Given the description of an element on the screen output the (x, y) to click on. 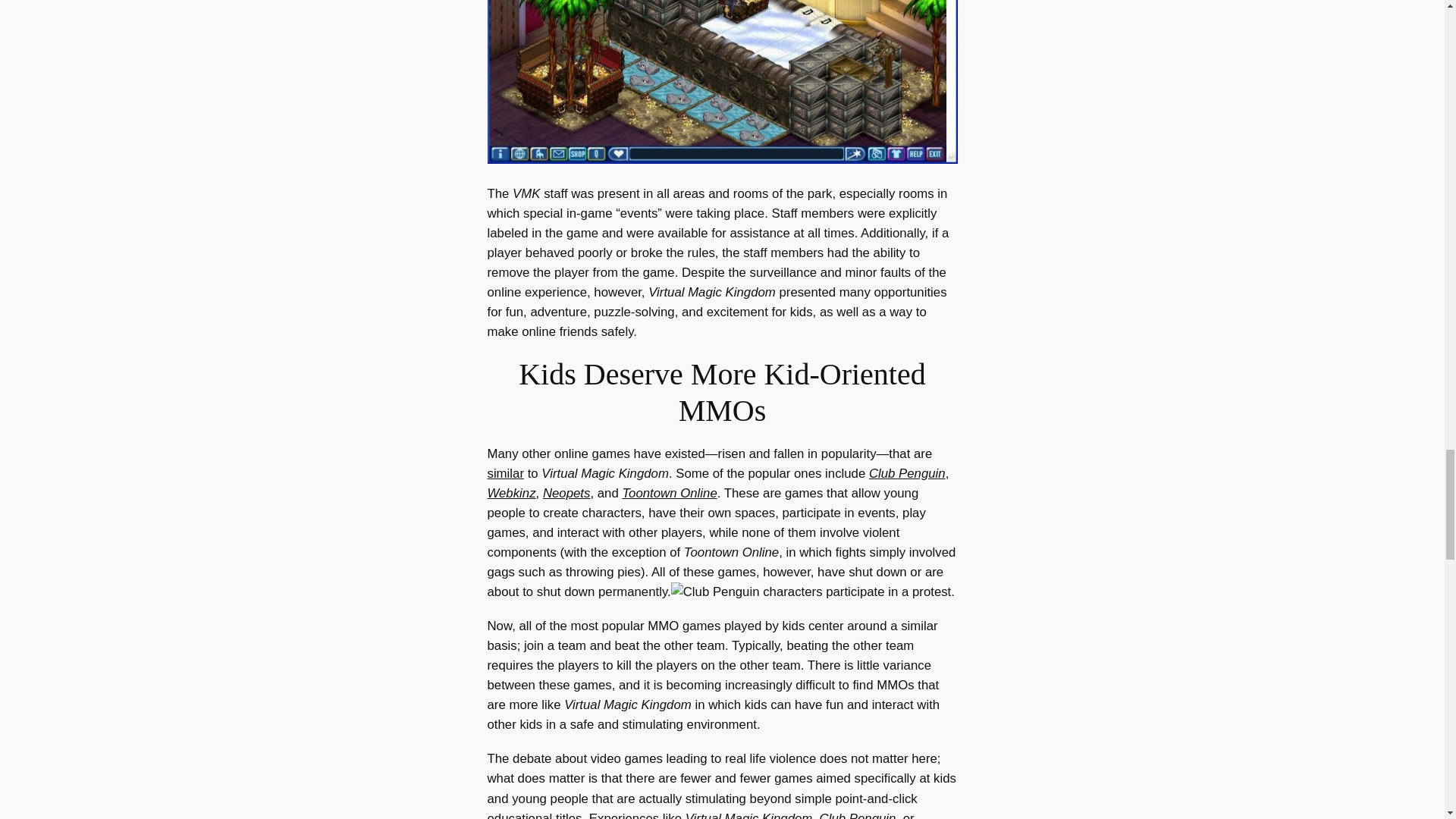
Neopets (567, 493)
Toontown Online (668, 493)
Webkinz (510, 493)
similar (504, 473)
Club Penguin (906, 473)
